Given the description of an element on the screen output the (x, y) to click on. 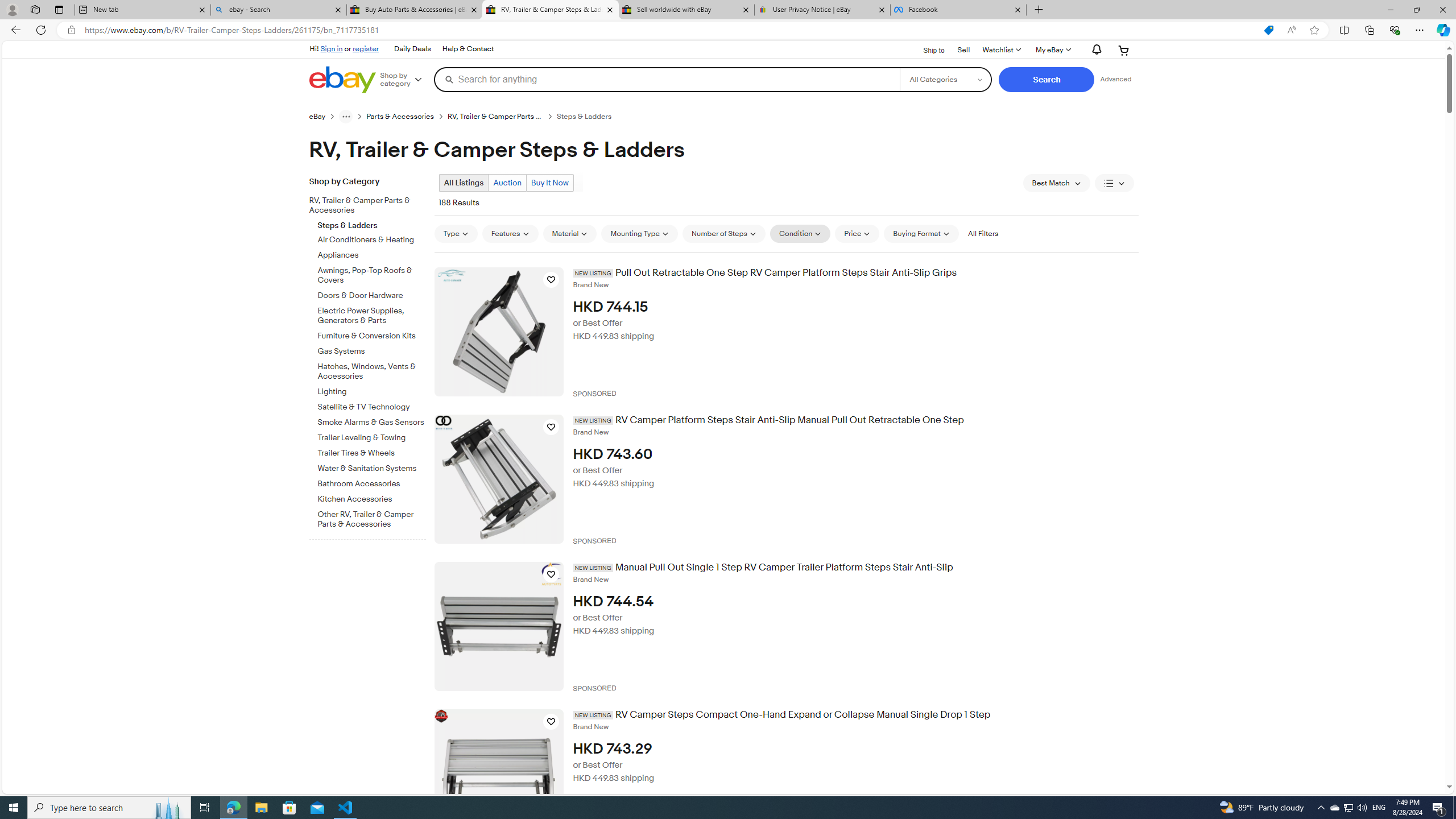
Type (455, 233)
All Listings (463, 182)
Water & Sanitation Systems (371, 468)
Satellite & TV Technology (371, 407)
Shop by category (405, 79)
Hatches, Windows, Vents & Accessories (371, 371)
Other RV, Trailer & Camper Parts & Accessories (371, 517)
View: List View (1114, 182)
